Given the description of an element on the screen output the (x, y) to click on. 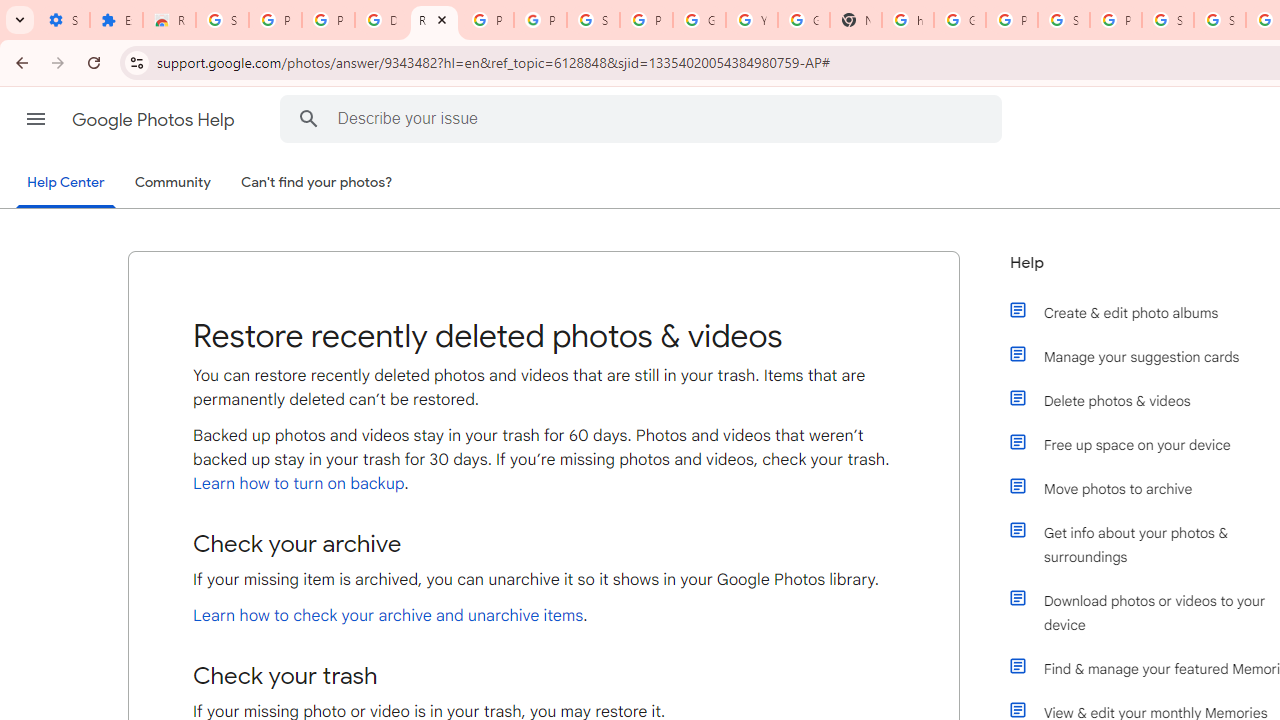
Settings - On startup (63, 20)
Learn how to turn on backup (298, 483)
Google Account (699, 20)
YouTube (751, 20)
https://scholar.google.com/ (907, 20)
Delete photos & videos - Computer - Google Photos Help (381, 20)
Reviews: Helix Fruit Jump Arcade Game (169, 20)
